Given the description of an element on the screen output the (x, y) to click on. 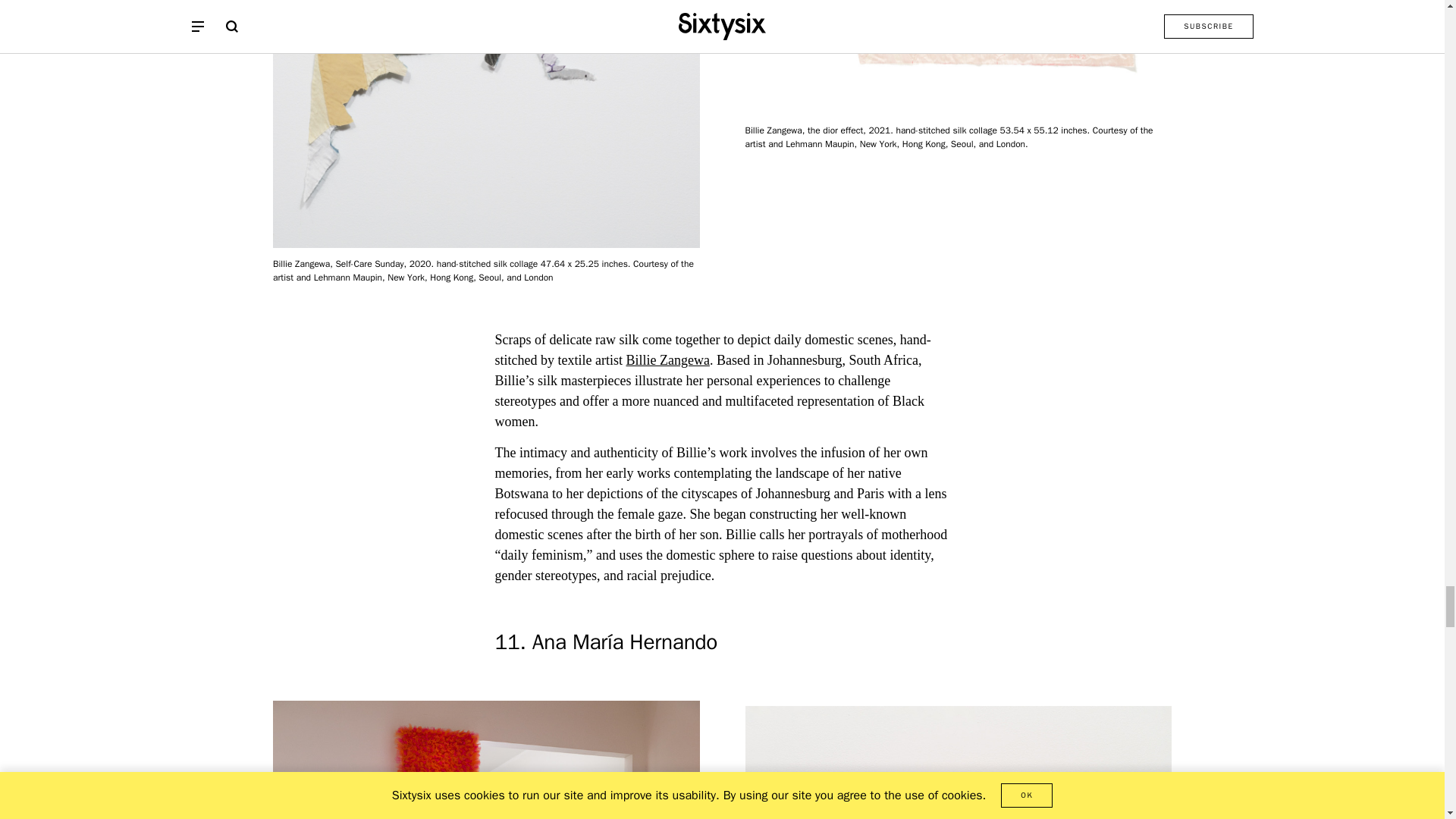
Billie Zangewa (667, 359)
